Given the description of an element on the screen output the (x, y) to click on. 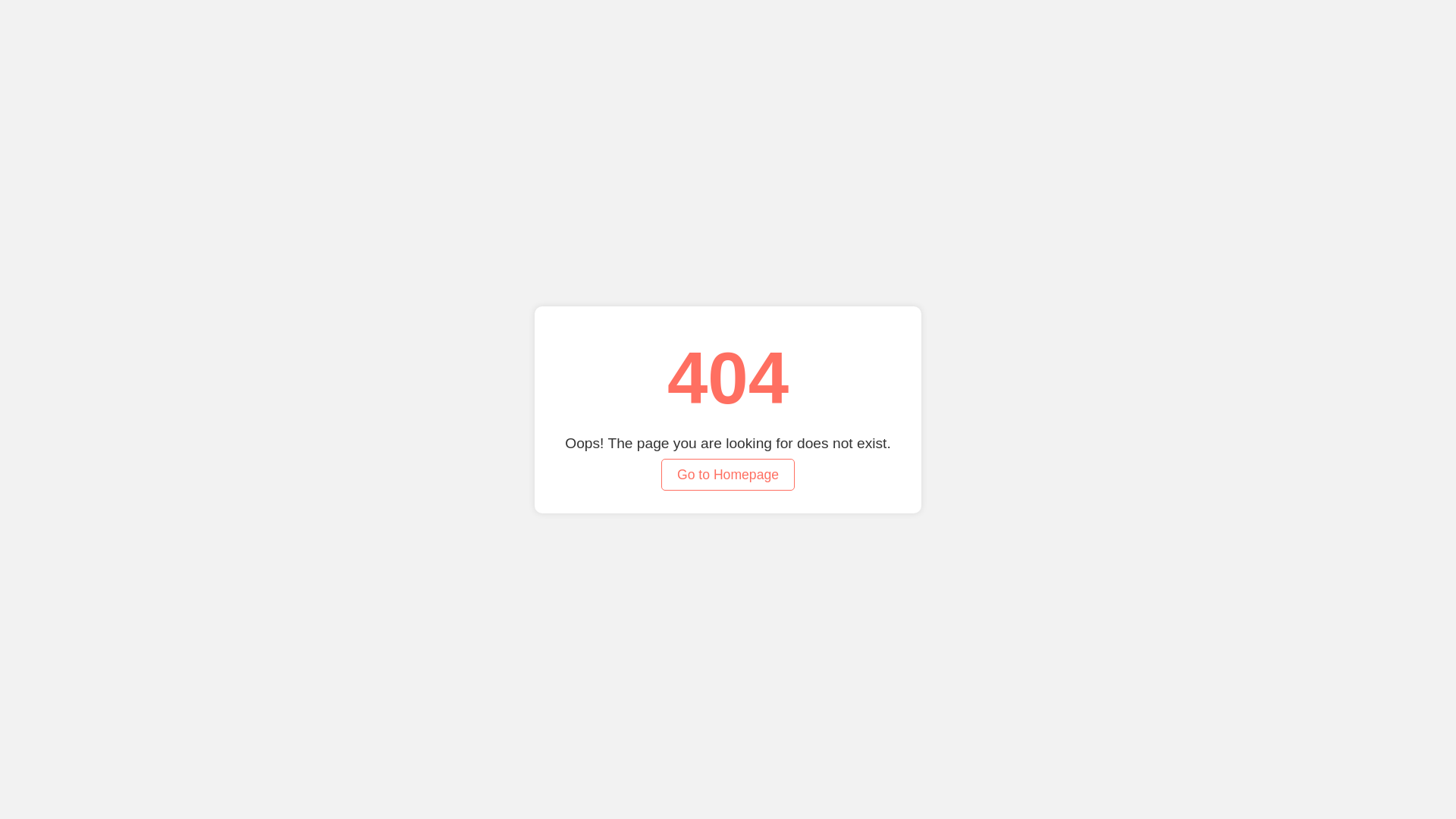
Go to Homepage (727, 473)
